Given the description of an element on the screen output the (x, y) to click on. 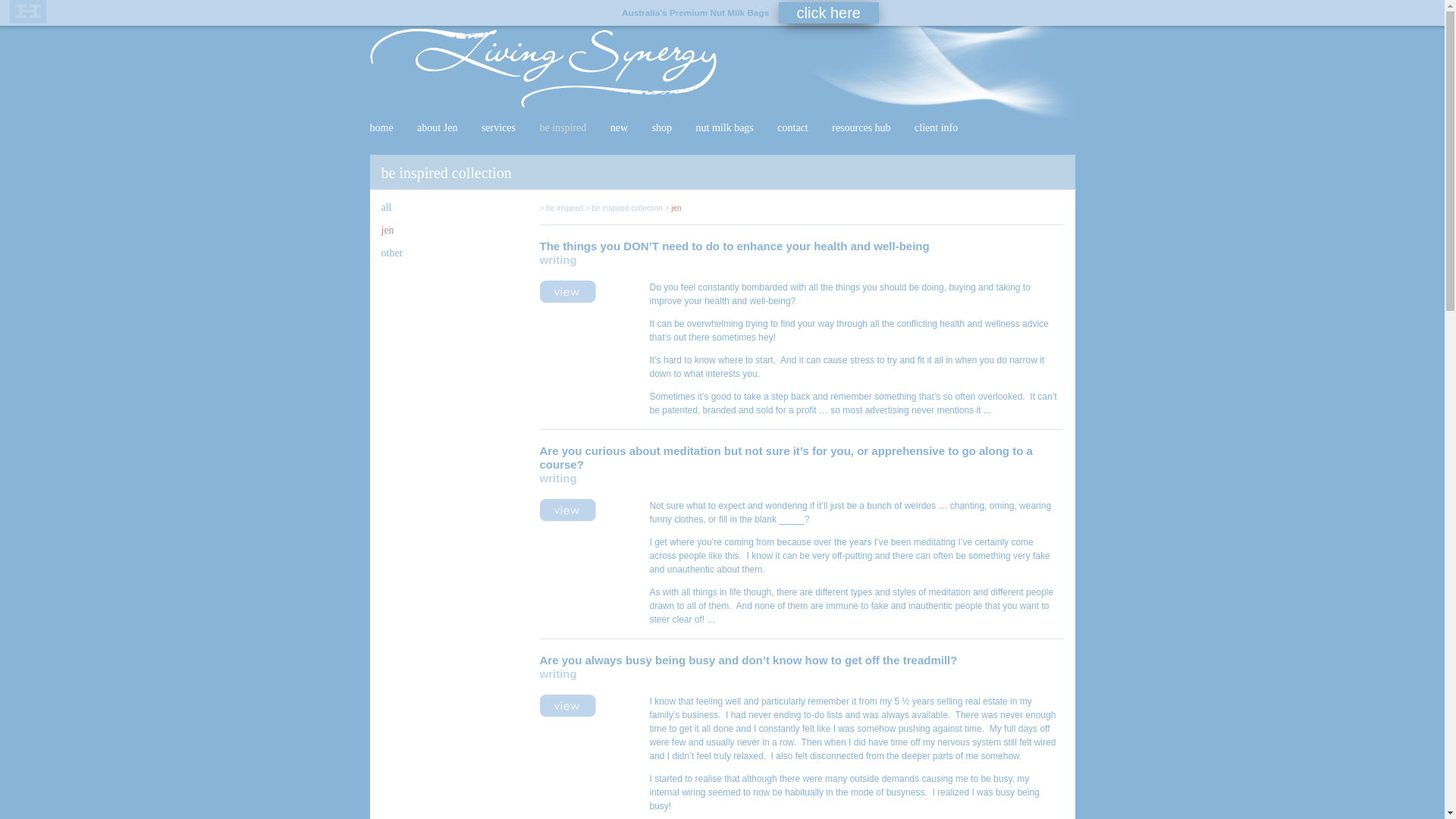
resources hub Element type: text (860, 127)
about Jen Element type: text (437, 127)
other Element type: text (391, 252)
> be inspired Element type: text (561, 207)
new Element type: text (618, 127)
services Element type: text (498, 127)
be inspired Element type: text (562, 127)
home Element type: text (381, 127)
shop Element type: text (661, 127)
jen Element type: text (386, 229)
contact Element type: text (792, 127)
all Element type: text (385, 207)
nut milk bags Element type: text (724, 127)
client info Element type: text (935, 127)
> be inspired collection > Element type: text (625, 207)
